Given the description of an element on the screen output the (x, y) to click on. 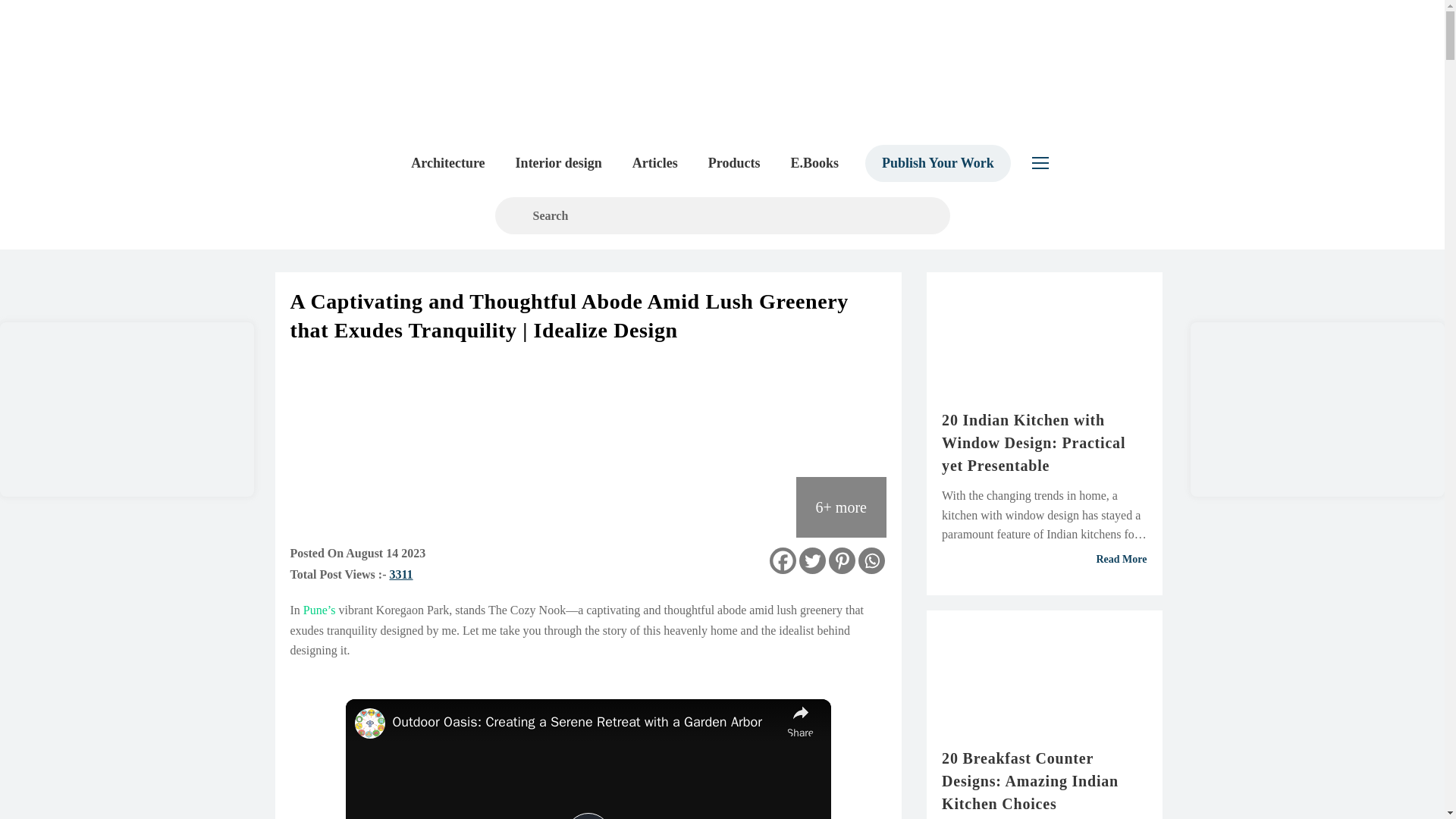
Play Video (588, 816)
search (722, 215)
Publish Your Work (937, 162)
Outdoor Oasis: Creating a Serene Retreat with a Garden Arbor (585, 721)
Play Video (588, 816)
Interior design (558, 162)
Articles (655, 162)
E.Books (813, 162)
Architecture (447, 162)
Products (734, 162)
